Given the description of an element on the screen output the (x, y) to click on. 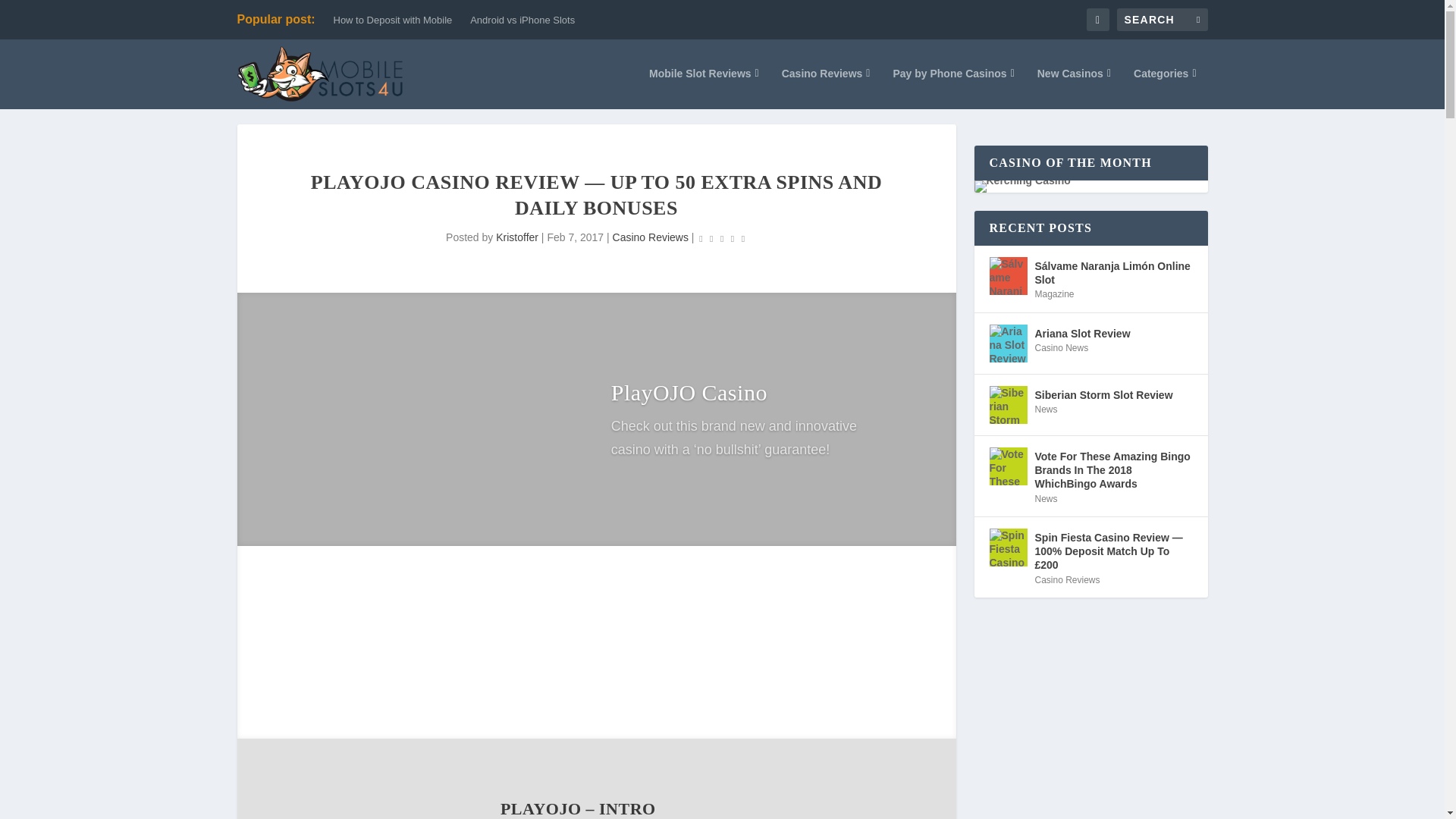
New Casinos (1073, 87)
Popular post: (274, 19)
How to Deposit with Mobile (392, 19)
Android vs iPhone Slots (522, 19)
Categories (1164, 87)
Casino Reviews (825, 87)
Mobile Slot Reviews (703, 87)
Search for: (1161, 19)
Pay by Phone Casinos (952, 87)
